Given the description of an element on the screen output the (x, y) to click on. 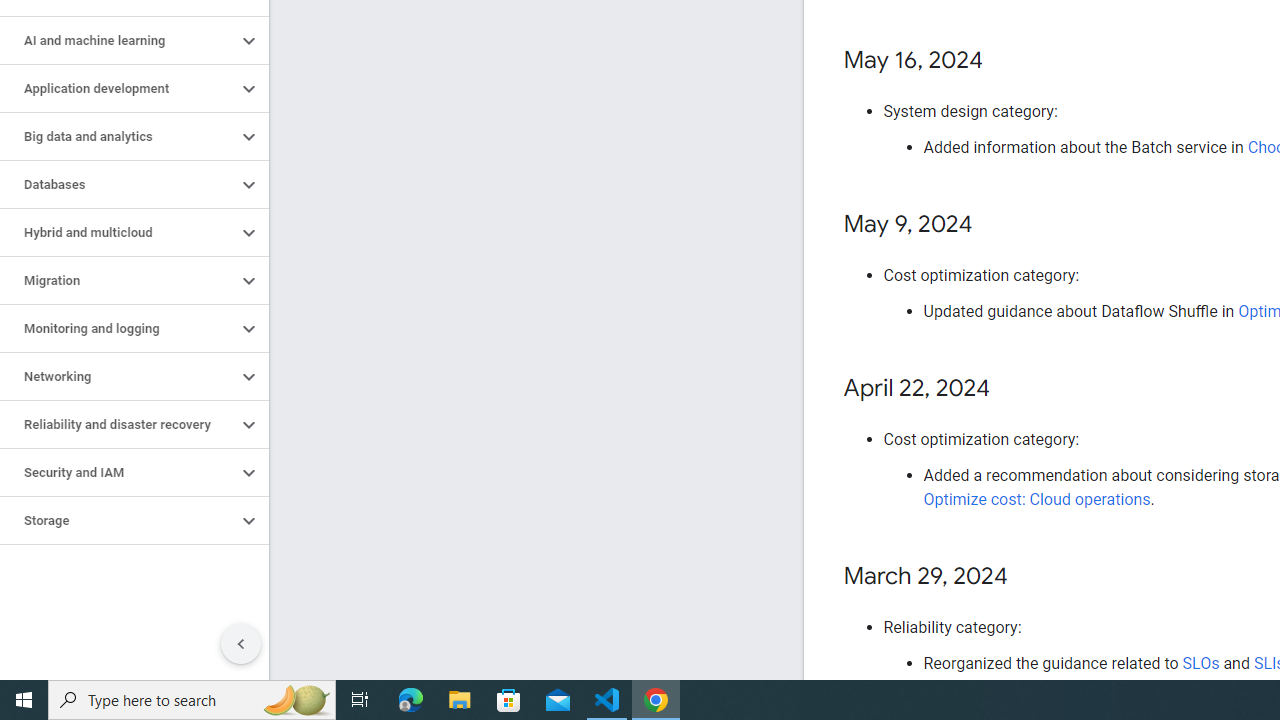
Storage (118, 520)
Copy link to this section: March 29, 2024 (1027, 577)
Big data and analytics (118, 137)
Copy link to this section: May 16, 2024 (1003, 61)
AI and machine learning (118, 40)
Copy link to this section: May 9, 2024 (991, 225)
Migration (118, 281)
Databases (118, 184)
Optimize cost: Cloud operations (1036, 499)
Security and IAM (118, 472)
Hybrid and multicloud (118, 232)
Networking (118, 376)
Reliability and disaster recovery (118, 425)
Application development (118, 88)
Monitoring and logging (118, 328)
